Given the description of an element on the screen output the (x, y) to click on. 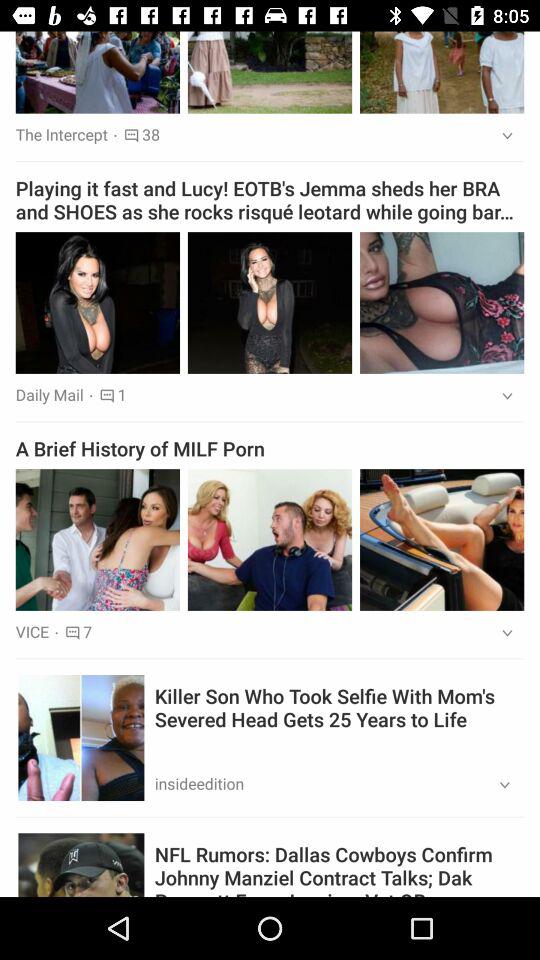
tap the icon above killer son who item (500, 633)
